Given the description of an element on the screen output the (x, y) to click on. 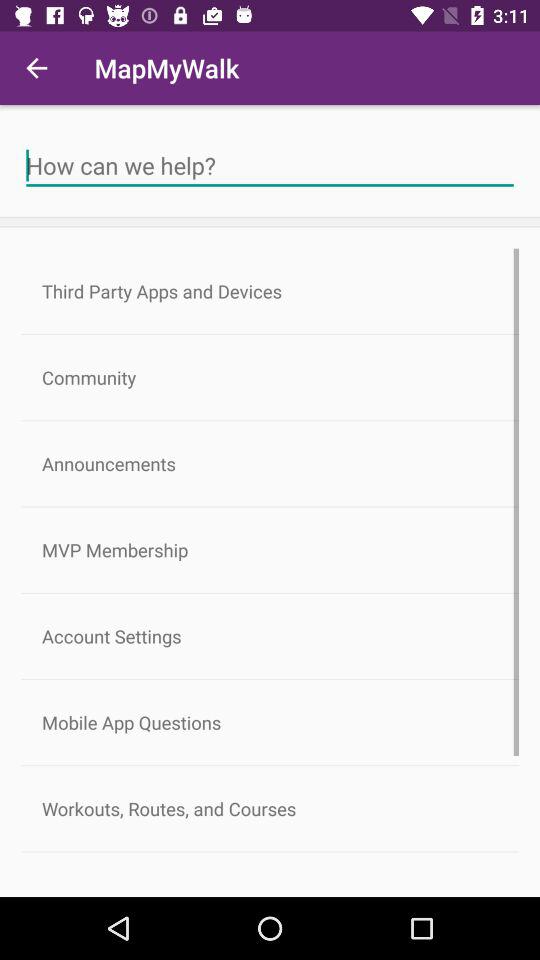
open the icon above workouts routes and icon (269, 722)
